Given the description of an element on the screen output the (x, y) to click on. 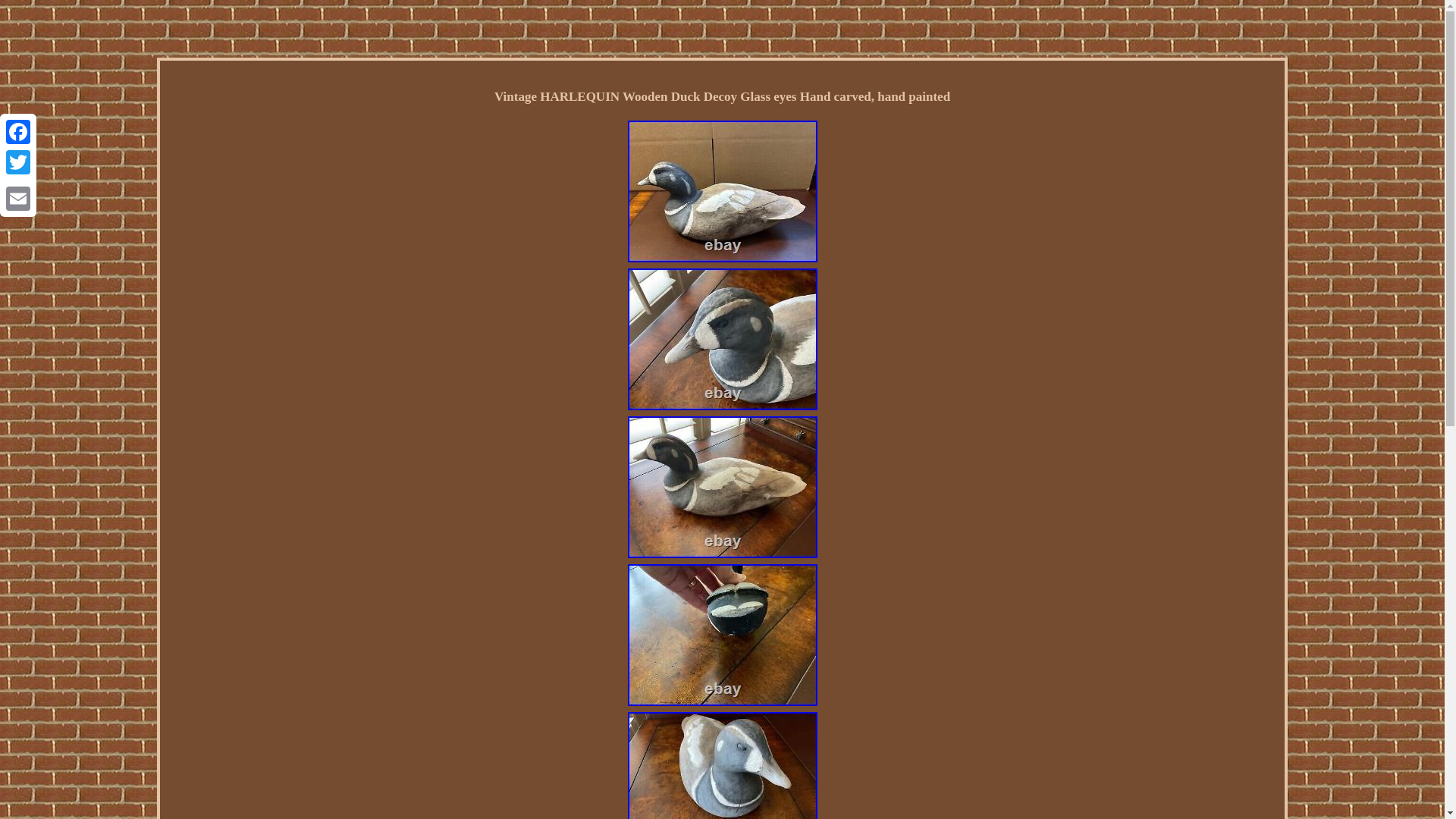
Facebook (17, 132)
Email (17, 198)
Twitter (17, 162)
